Given the description of an element on the screen output the (x, y) to click on. 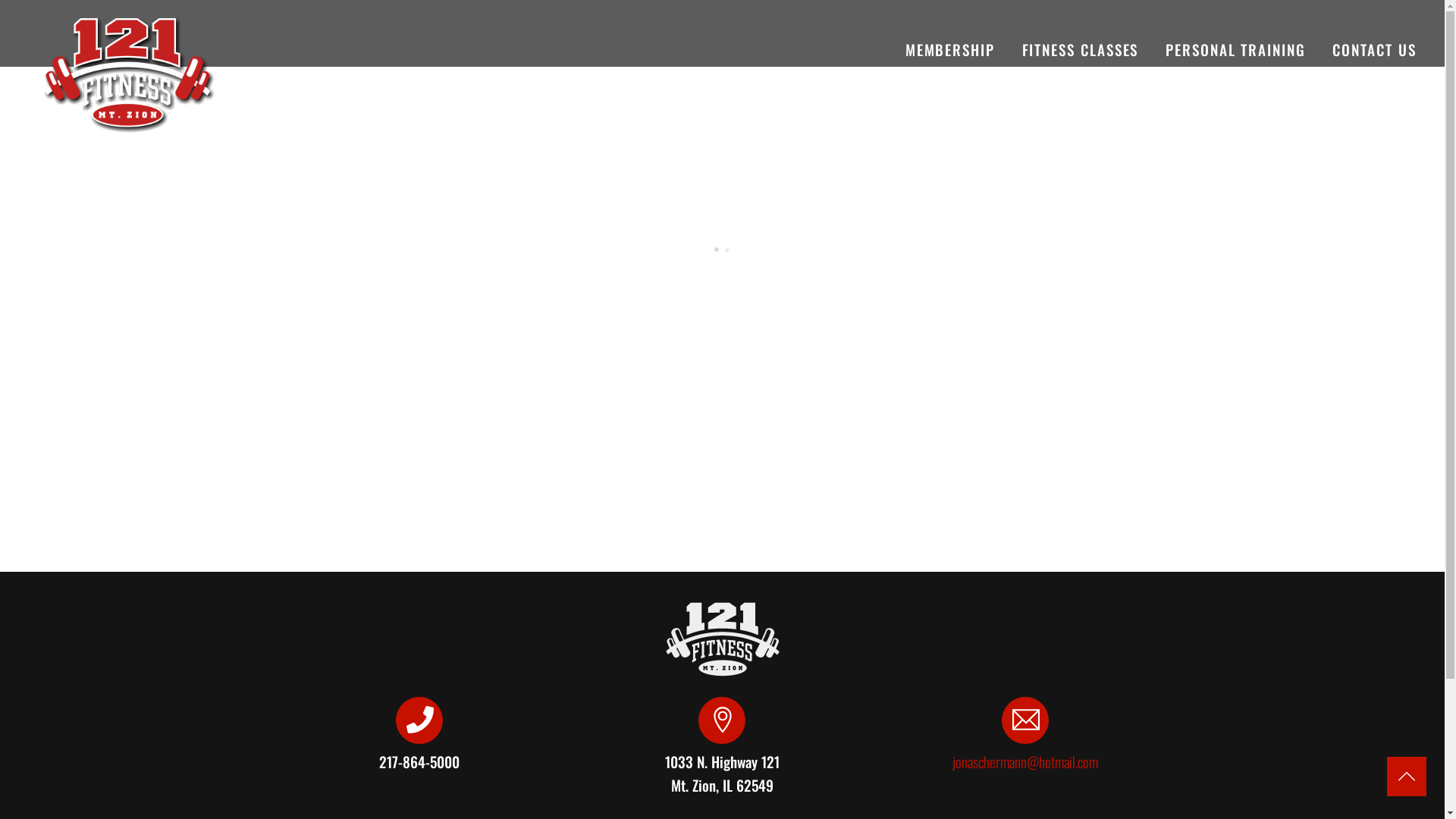
PERSONAL TRAINING Element type: text (1235, 51)
FITNESS CLASSES Element type: text (1079, 51)
CONTACT US Element type: text (1374, 51)
home slider Element type: hover (129, 75)
MEMBERSHIP Element type: text (949, 51)
jonaschermann@hotmail.com Element type: text (1025, 761)
